Given the description of an element on the screen output the (x, y) to click on. 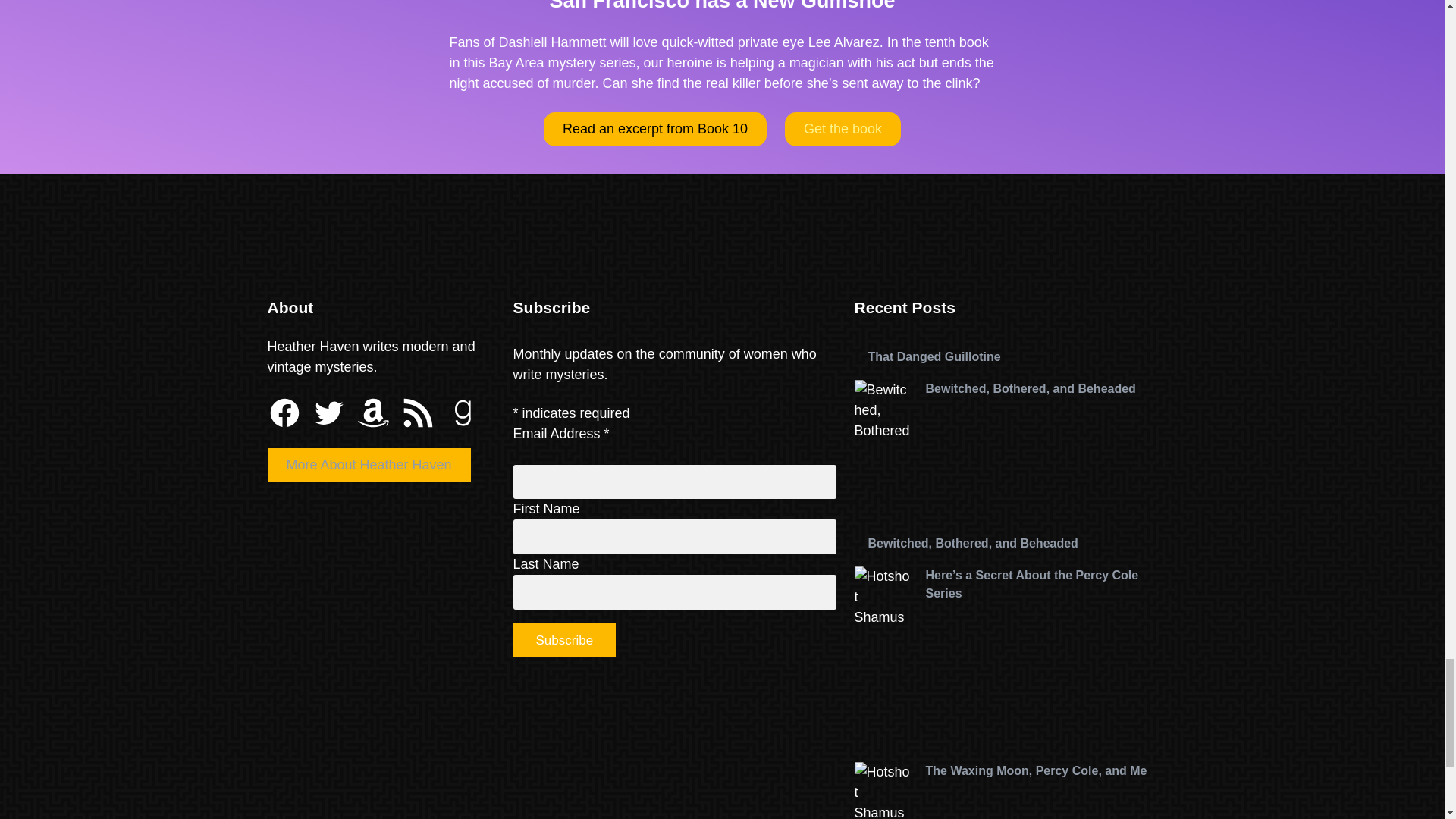
Subscribe (563, 640)
